Given the description of an element on the screen output the (x, y) to click on. 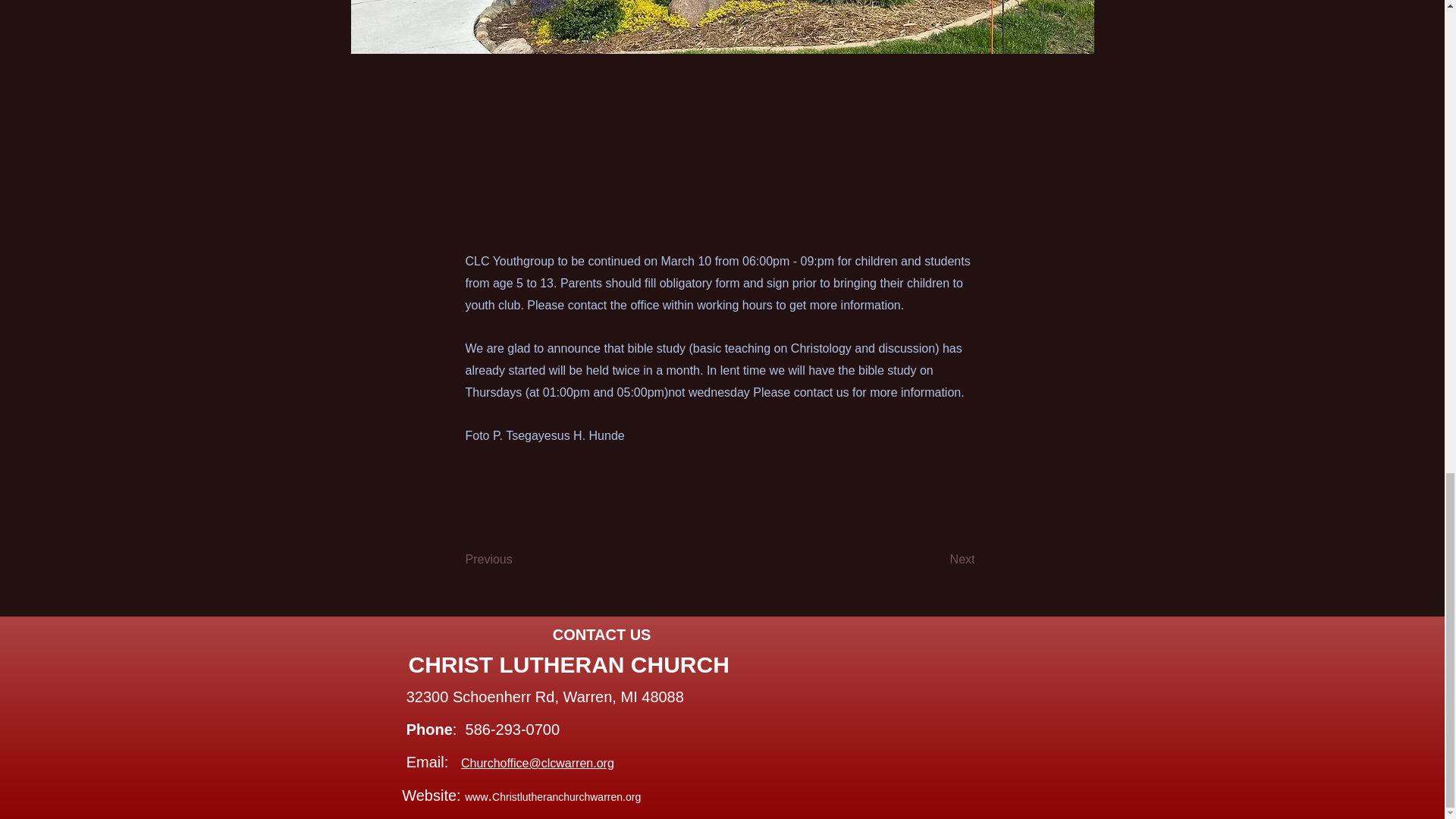
Next (937, 559)
Previous (515, 559)
